Given the description of an element on the screen output the (x, y) to click on. 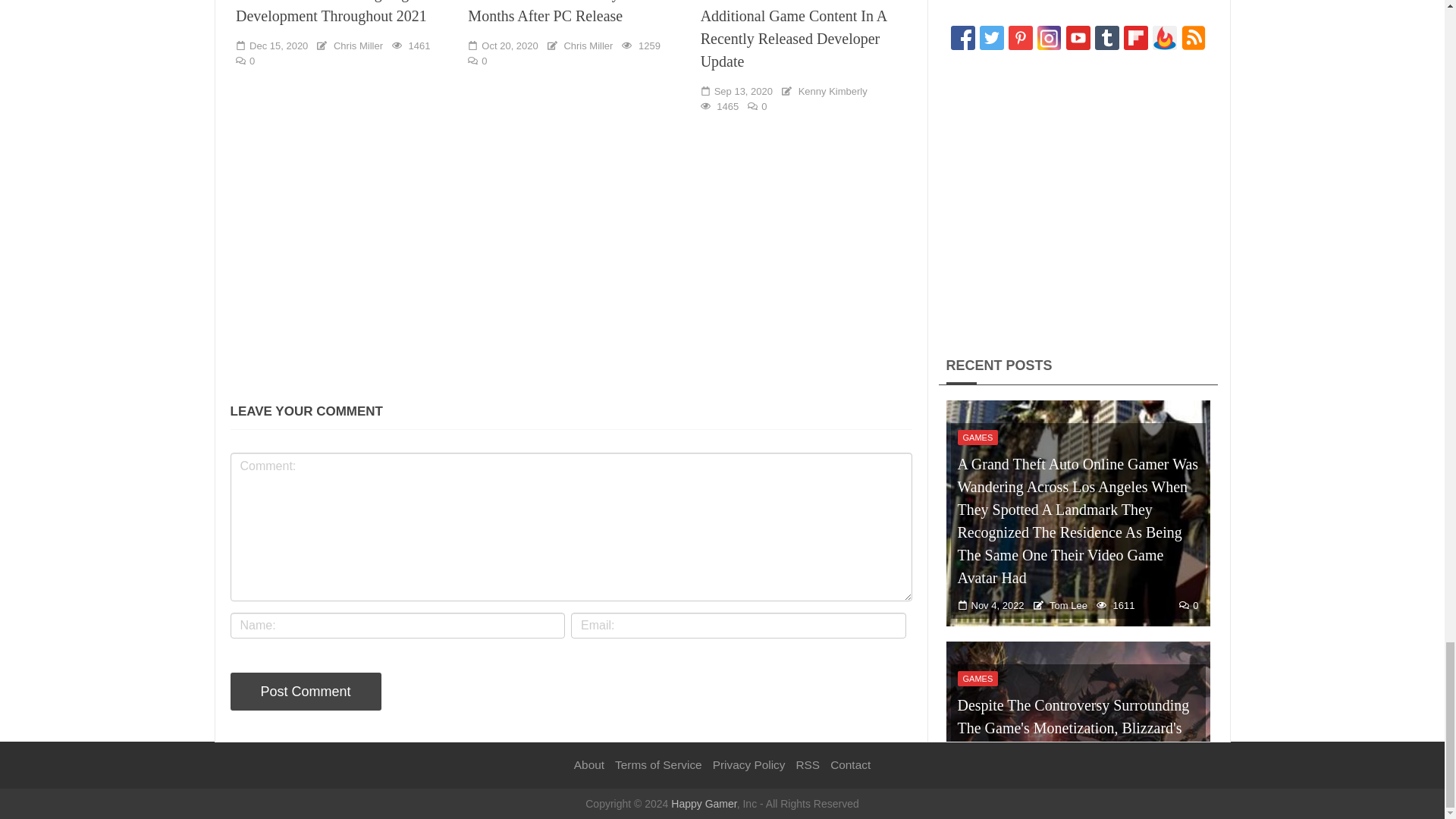
Post Comment (305, 691)
